Given the description of an element on the screen output the (x, y) to click on. 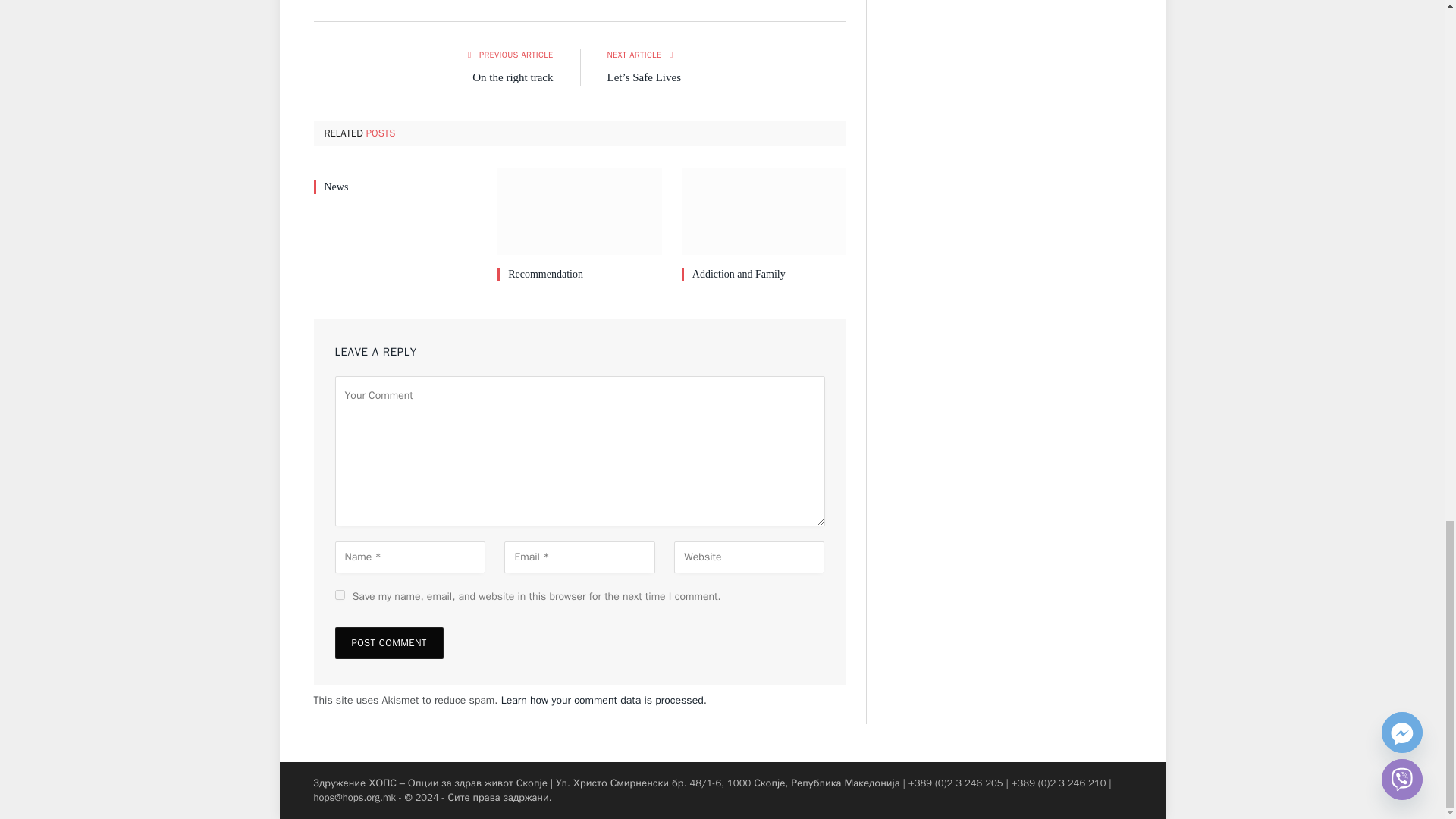
yes (339, 594)
Post Comment (389, 643)
Recommendation (579, 210)
